Given the description of an element on the screen output the (x, y) to click on. 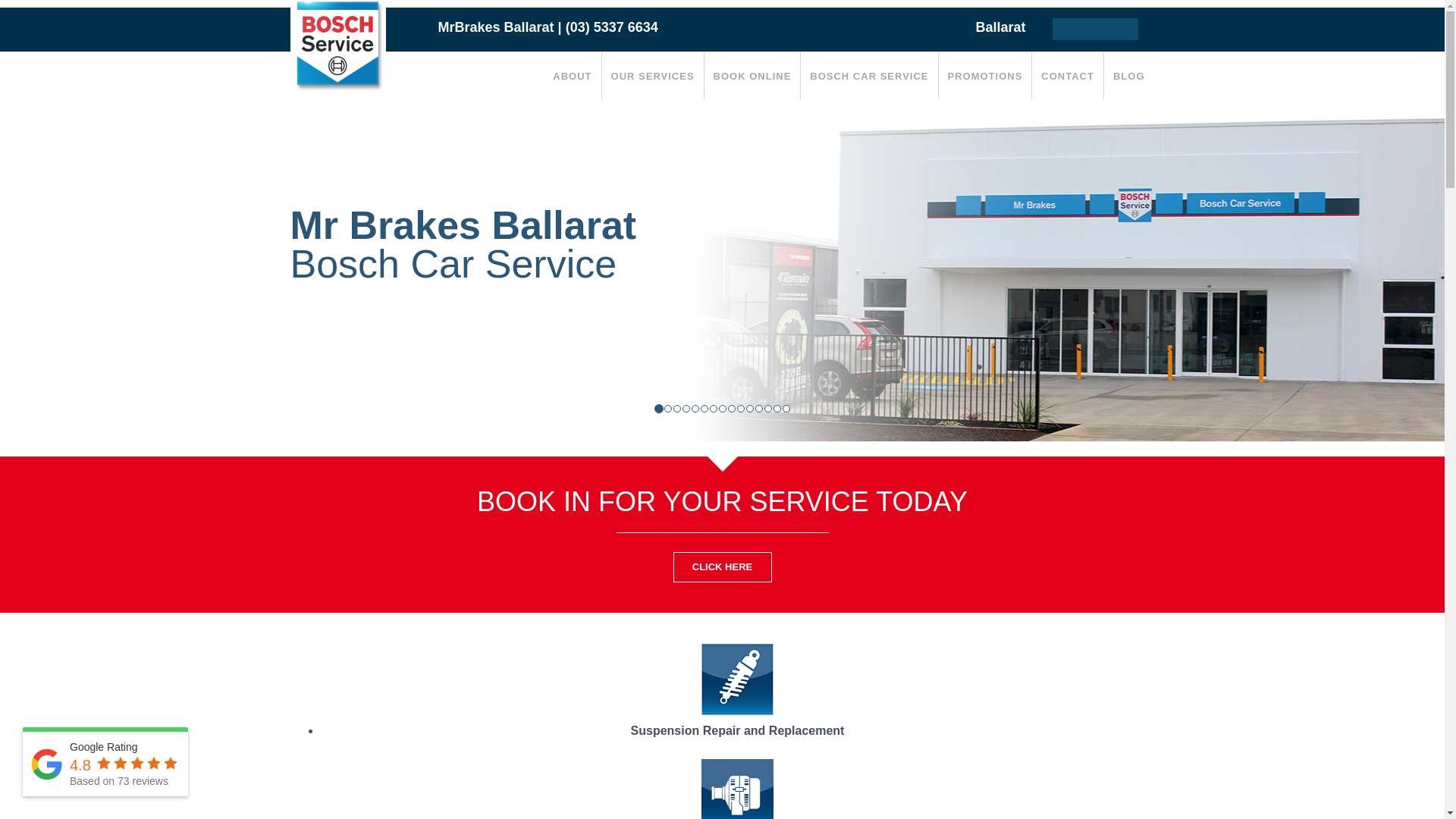
Search for: Element type: hover (1095, 29)
(03) 5337 6634 Element type: text (611, 26)
CLICK HERE Element type: text (722, 567)
Previous Element type: text (108, 270)
BLOG Element type: text (1129, 75)
BOSCH CAR SERVICE Element type: text (868, 75)
CONTACT Element type: text (1067, 75)
PROMOTIONS Element type: text (985, 75)
ABOUT Element type: text (571, 75)
BOOK ONLINE Element type: text (752, 75)
OUR SERVICES Element type: text (652, 75)
Next Element type: text (1335, 270)
